Given the description of an element on the screen output the (x, y) to click on. 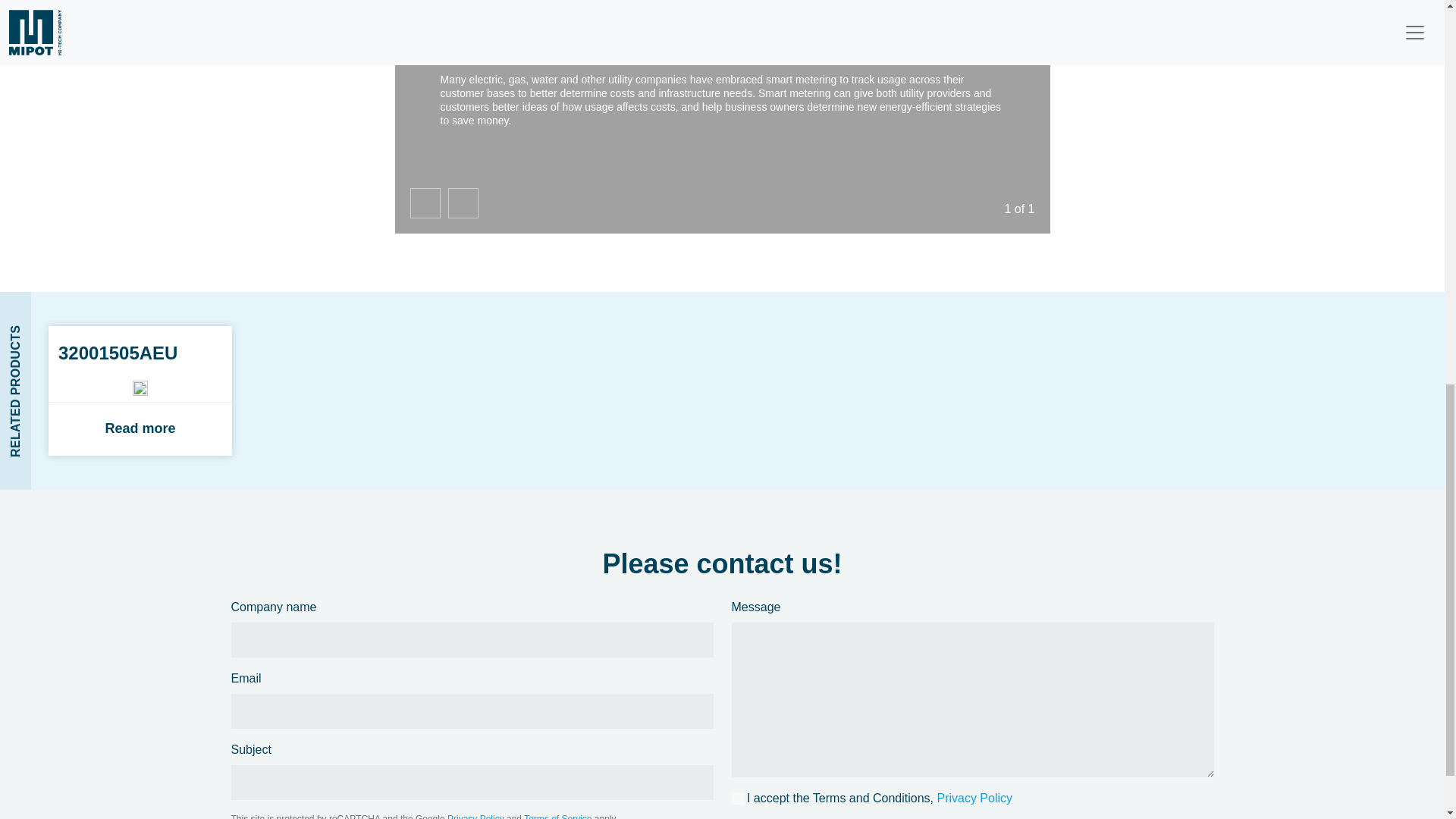
Privacy Policy (973, 797)
on (139, 390)
